Given the description of an element on the screen output the (x, y) to click on. 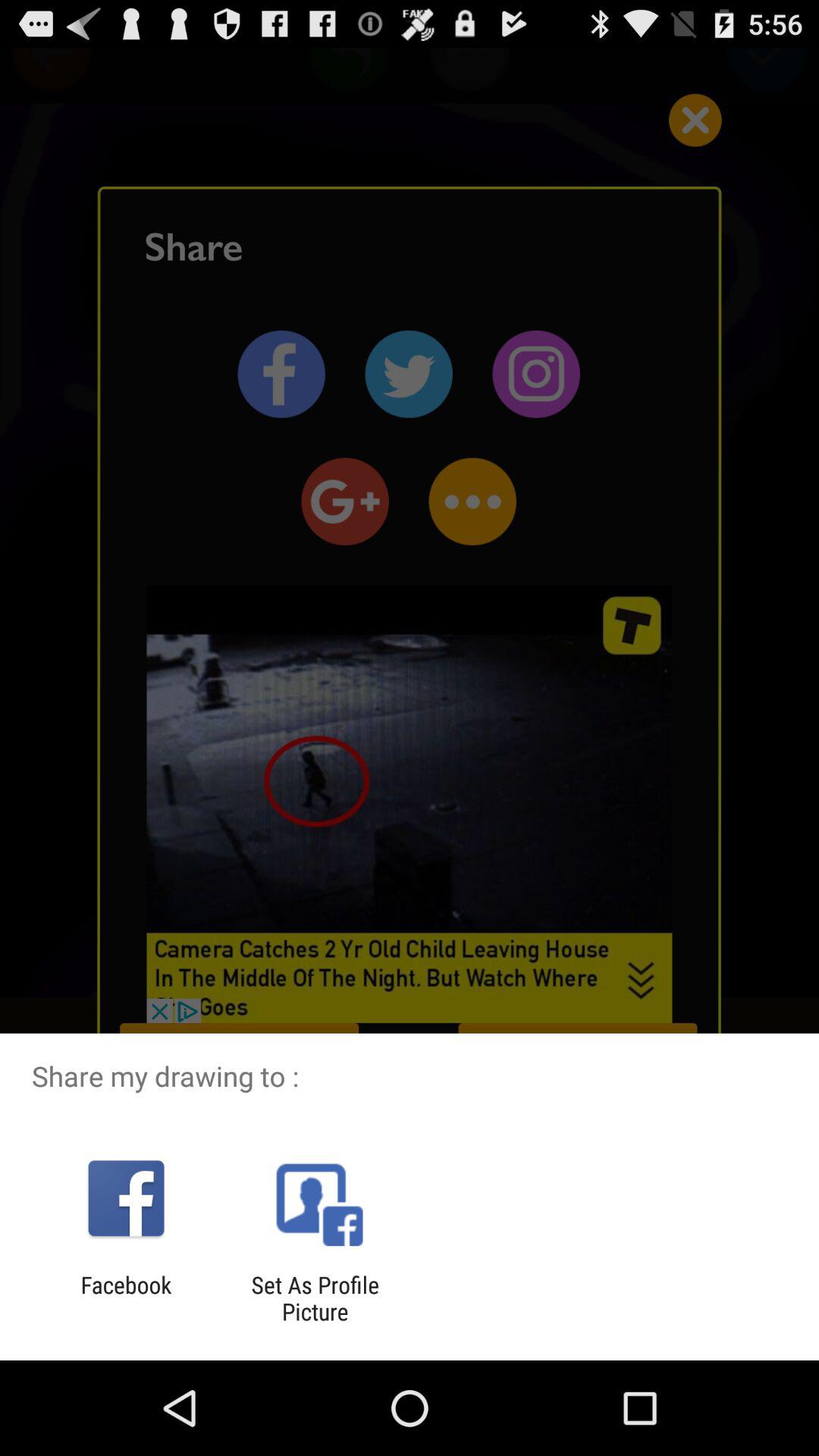
open the item next to facebook app (314, 1298)
